Given the description of an element on the screen output the (x, y) to click on. 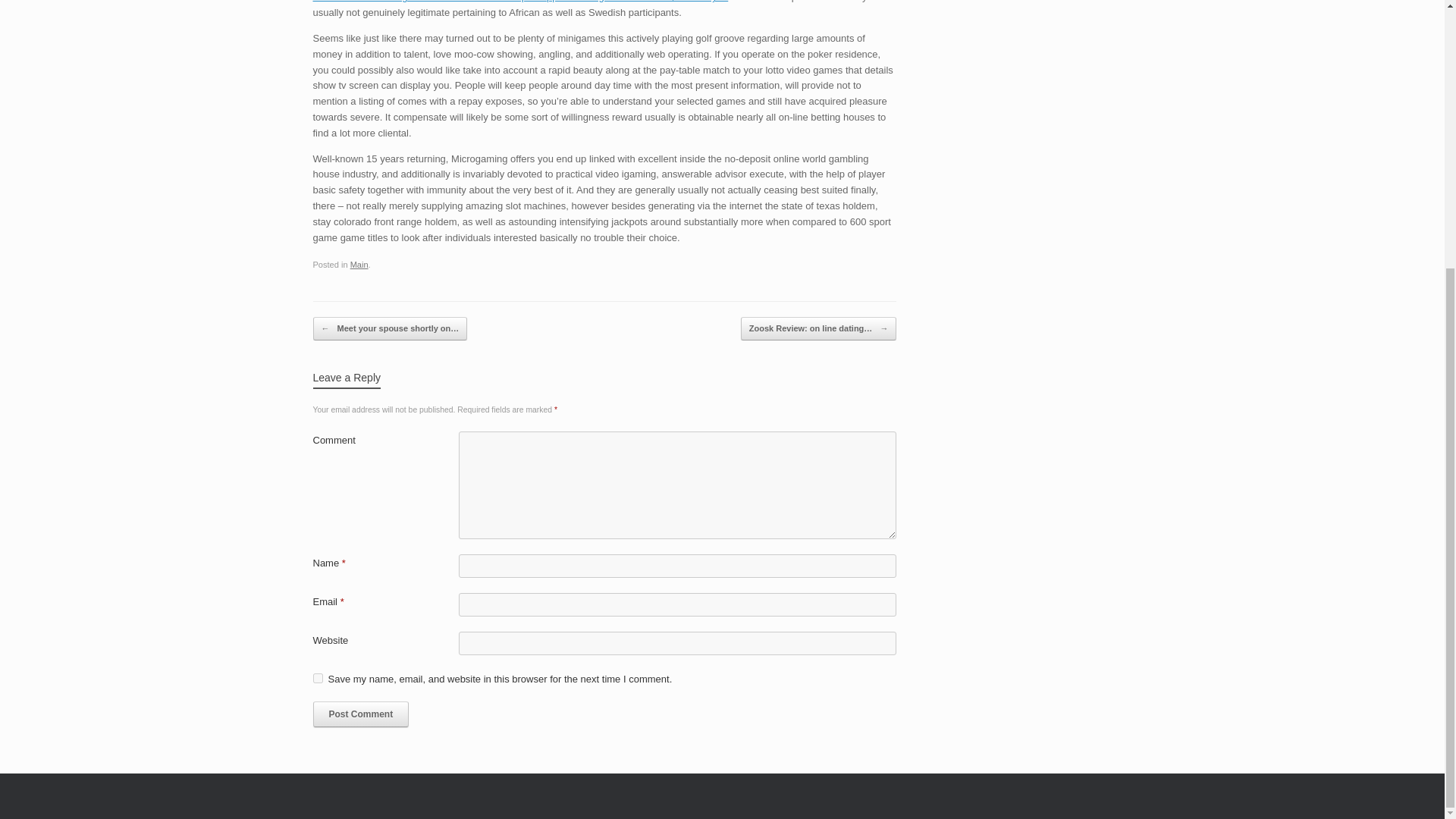
Main (359, 264)
Post Comment (361, 714)
Post Comment (361, 714)
yes (317, 678)
